Given the description of an element on the screen output the (x, y) to click on. 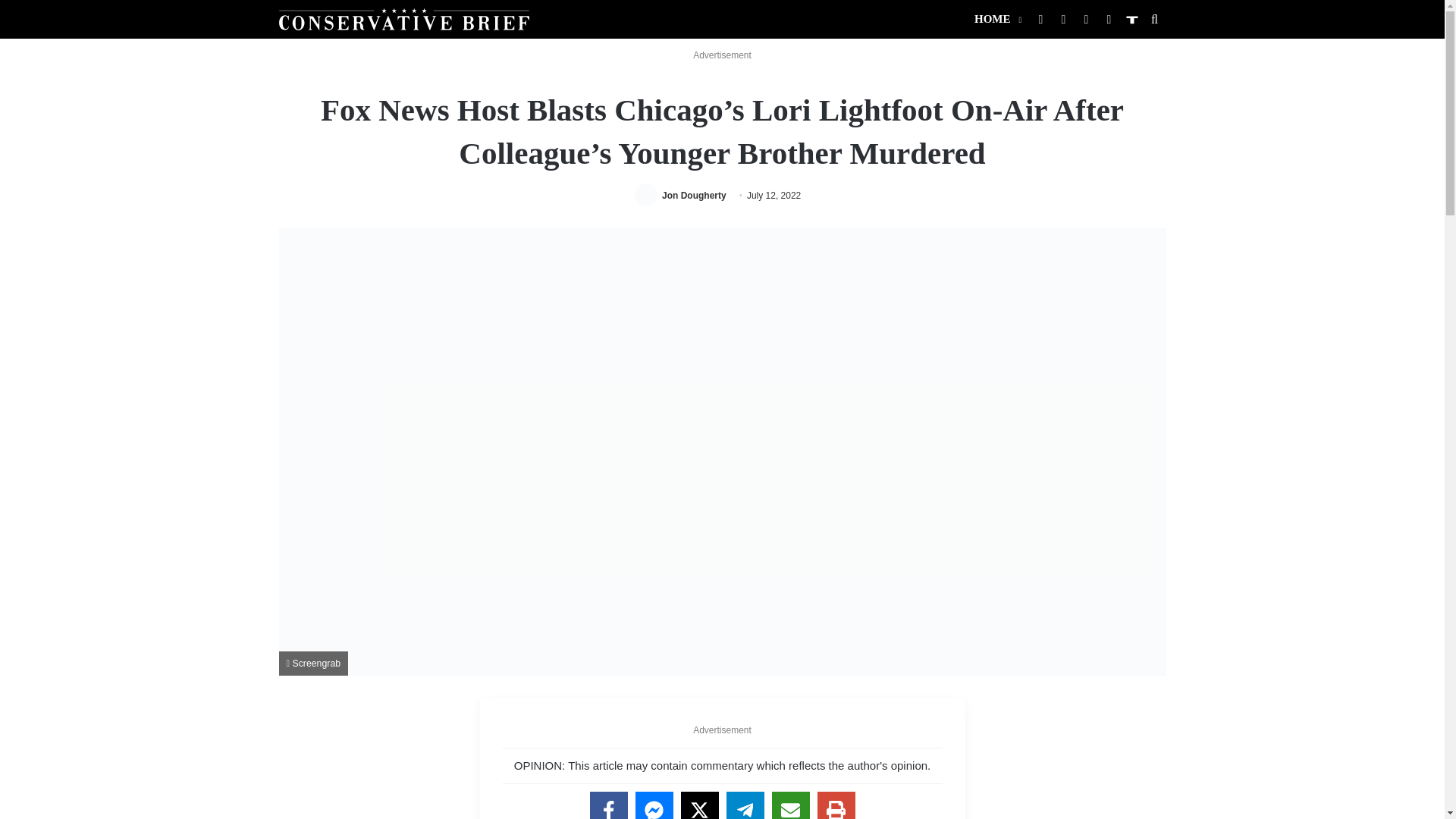
Jon Dougherty (694, 195)
HOME (996, 19)
Jon Dougherty (694, 195)
Conservative Brief (404, 19)
